Given the description of an element on the screen output the (x, y) to click on. 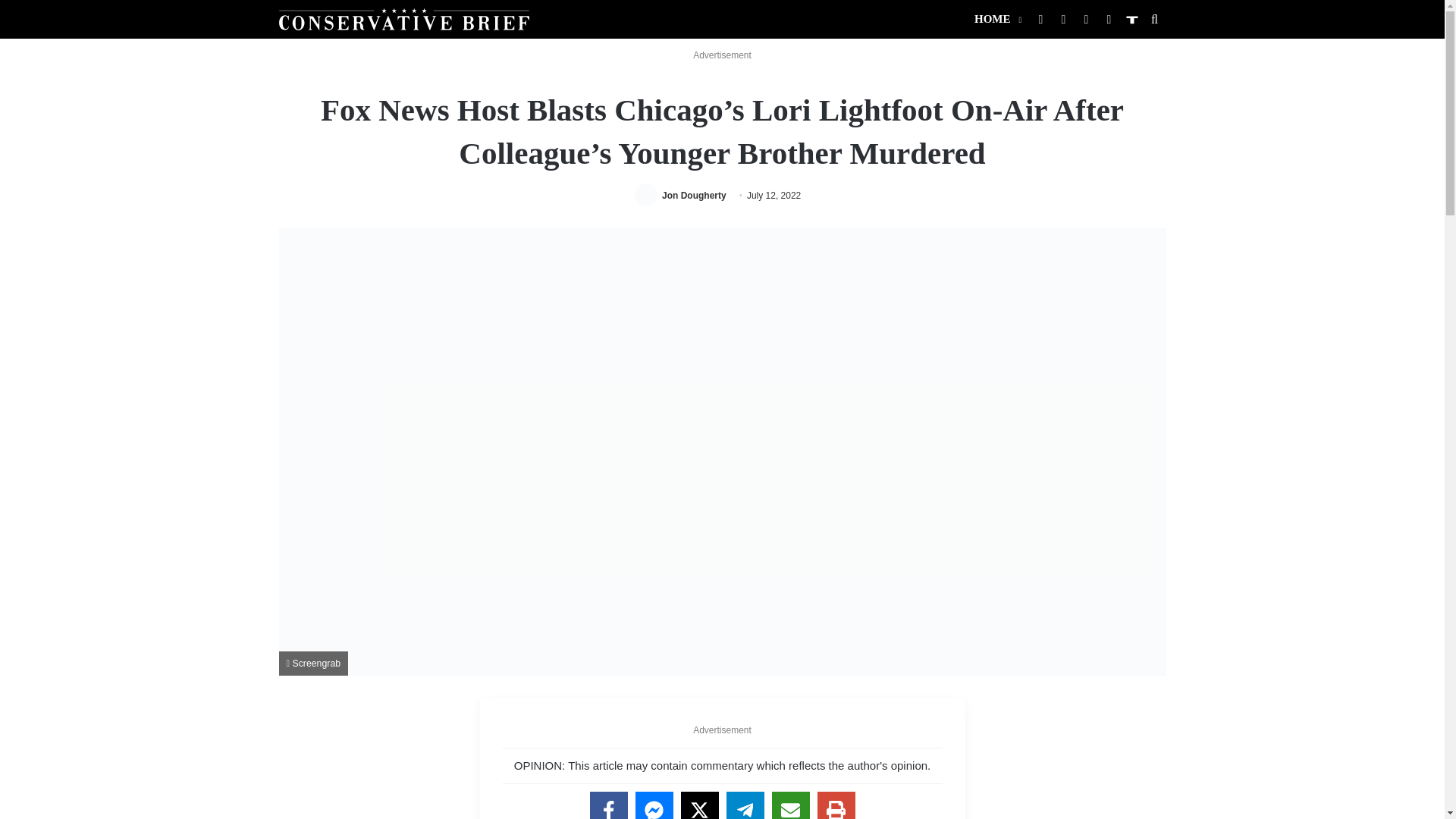
Jon Dougherty (694, 195)
HOME (996, 19)
Jon Dougherty (694, 195)
Conservative Brief (404, 19)
